Given the description of an element on the screen output the (x, y) to click on. 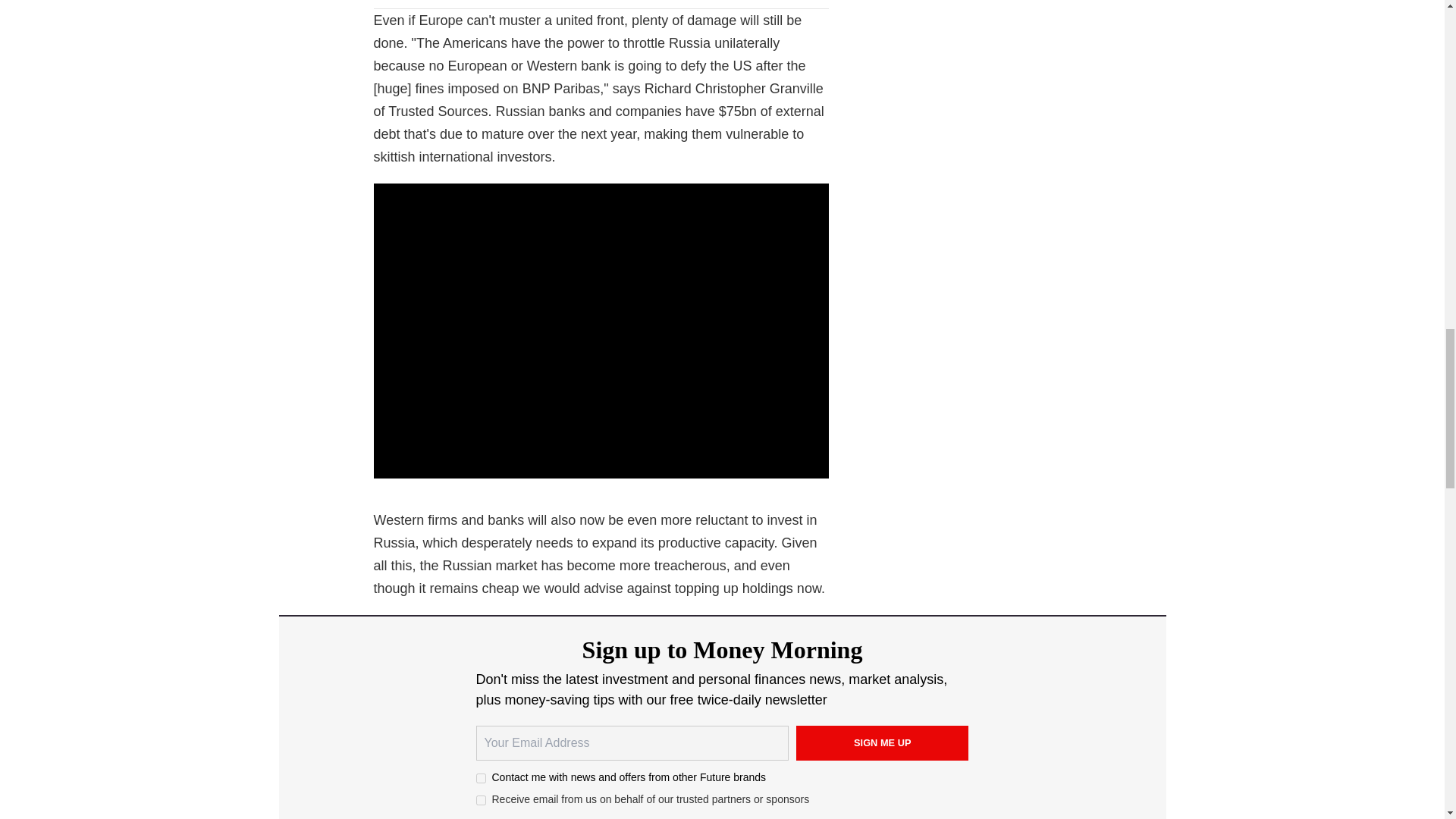
on (481, 777)
Sign me up (882, 742)
on (481, 800)
